Given the description of an element on the screen output the (x, y) to click on. 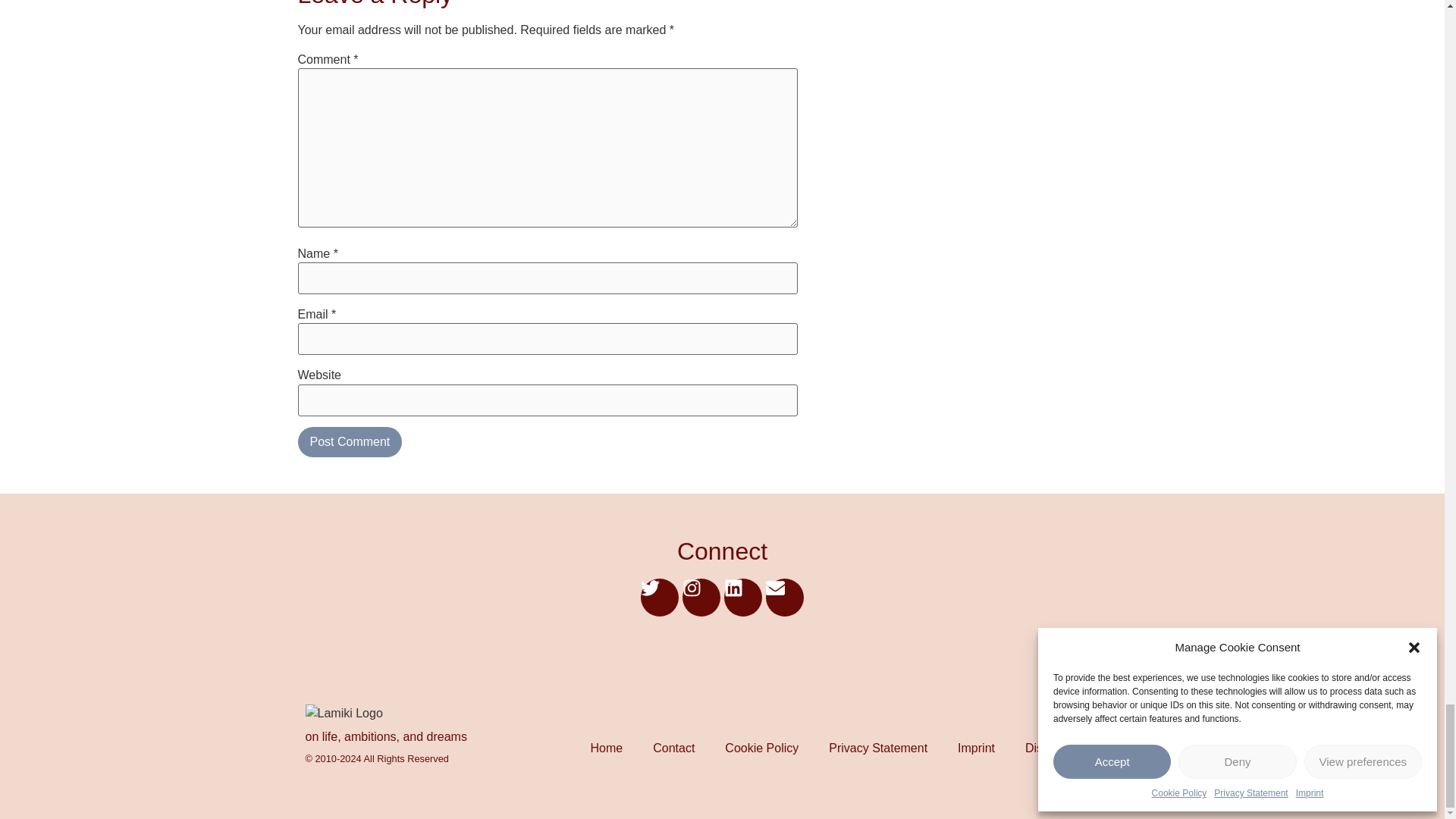
Post Comment (349, 441)
680B06 Blood Red tight (342, 713)
